Given the description of an element on the screen output the (x, y) to click on. 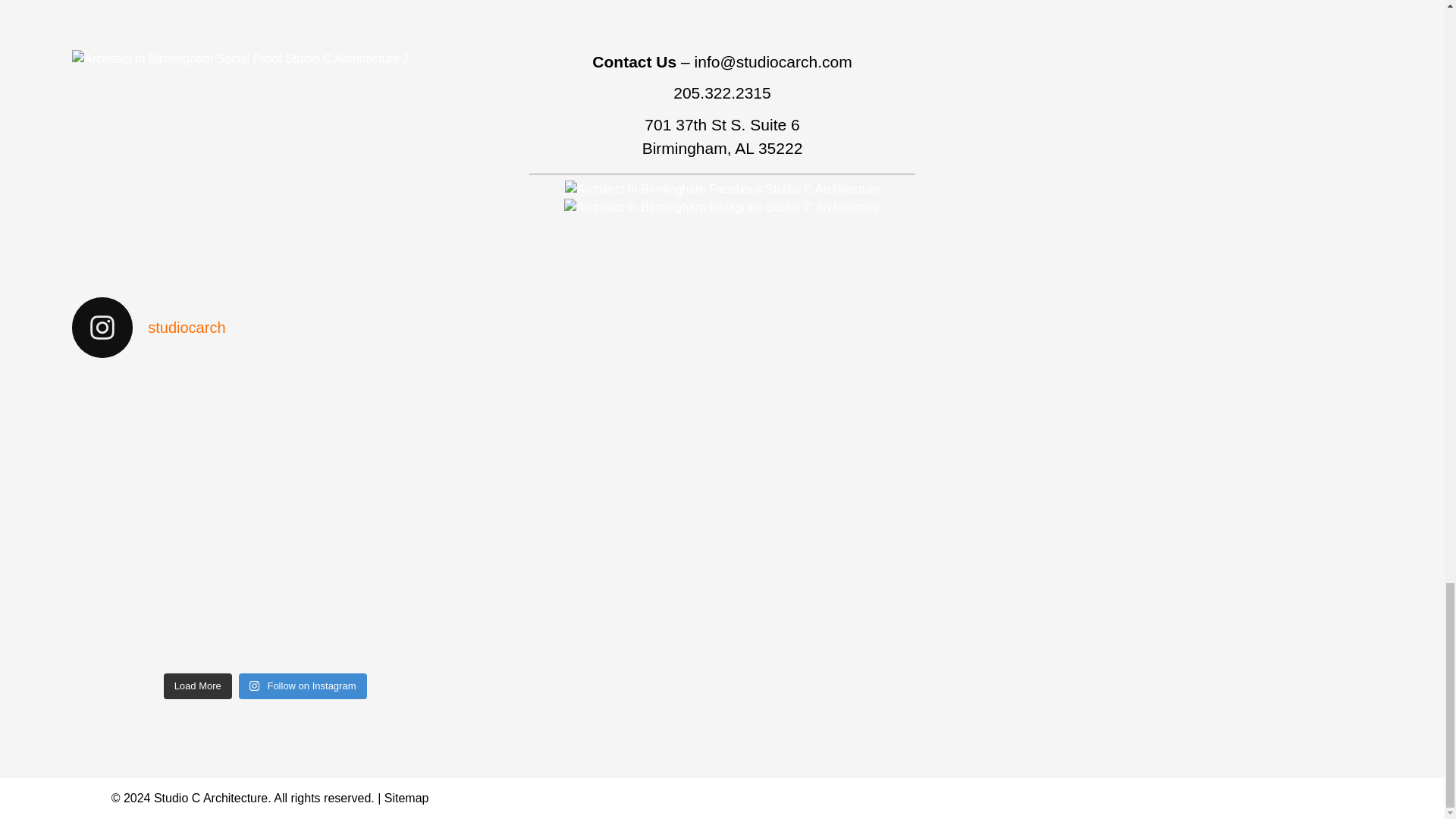
Follow on Instagram (302, 686)
Load More (197, 686)
701 37th St S. Suite 6 (722, 124)
studiocarch (264, 327)
205.322.2315 (721, 92)
